Given the description of an element on the screen output the (x, y) to click on. 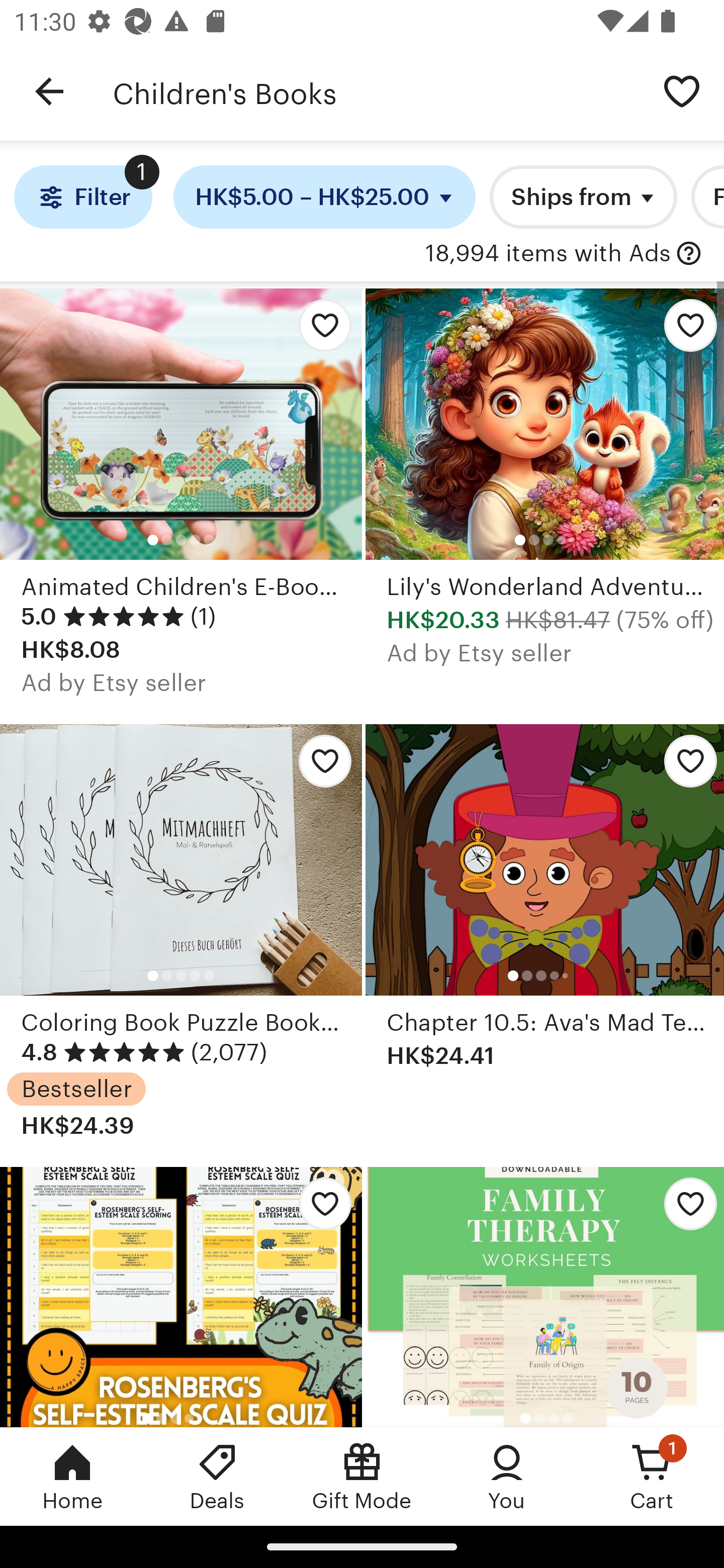
Navigate up (49, 91)
Save search (681, 90)
Children's Books (375, 91)
Filter (82, 197)
HK$5.00 – HK$25.00 (324, 197)
Ships from (582, 197)
18,994 items with Ads (548, 253)
with Ads (688, 253)
Deals (216, 1475)
Gift Mode (361, 1475)
You (506, 1475)
Cart, 1 new notification Cart (651, 1475)
